Given the description of an element on the screen output the (x, y) to click on. 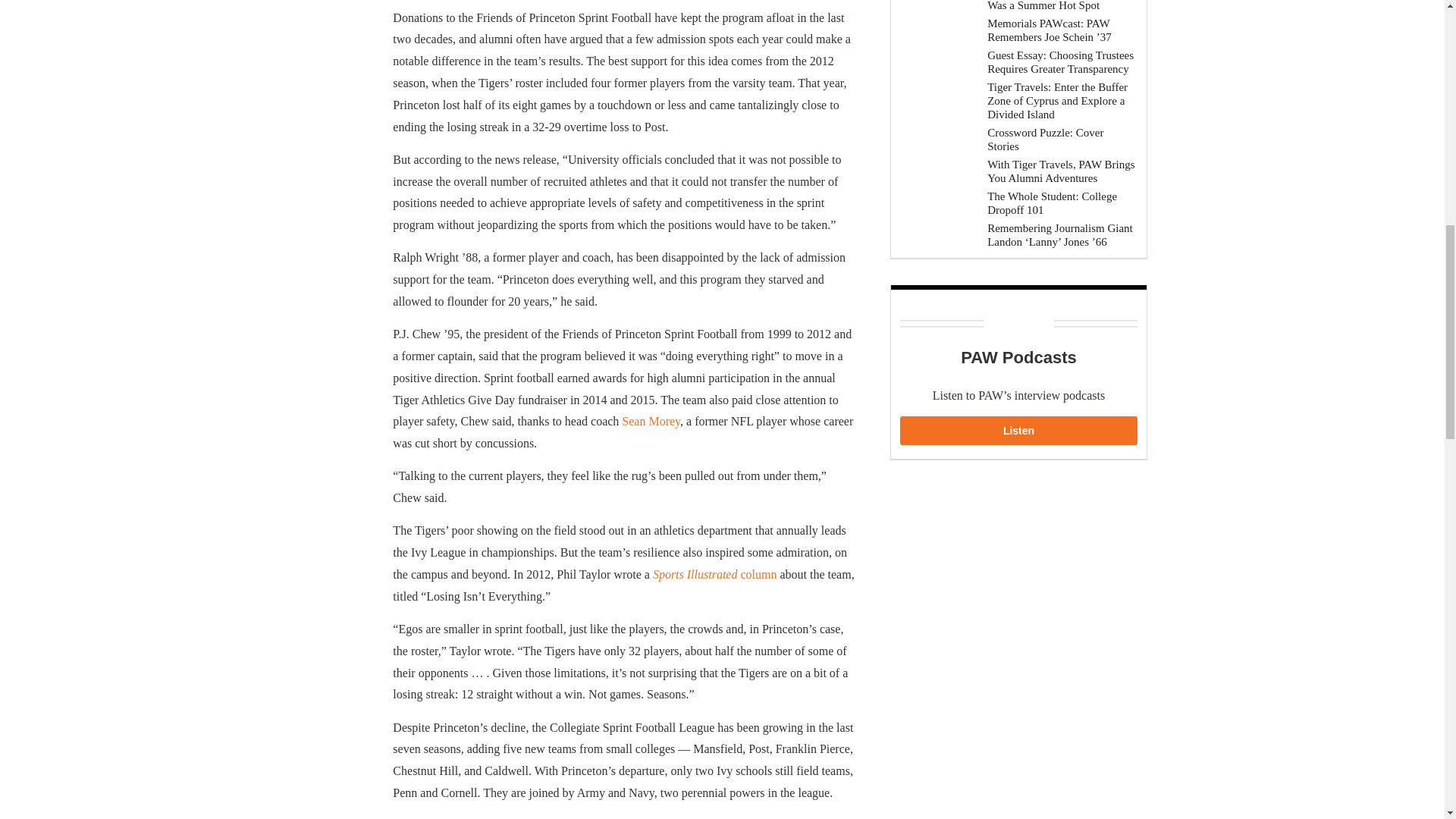
column (757, 574)
Sports Illustrated (696, 574)
Sean Morey (650, 420)
